Given the description of an element on the screen output the (x, y) to click on. 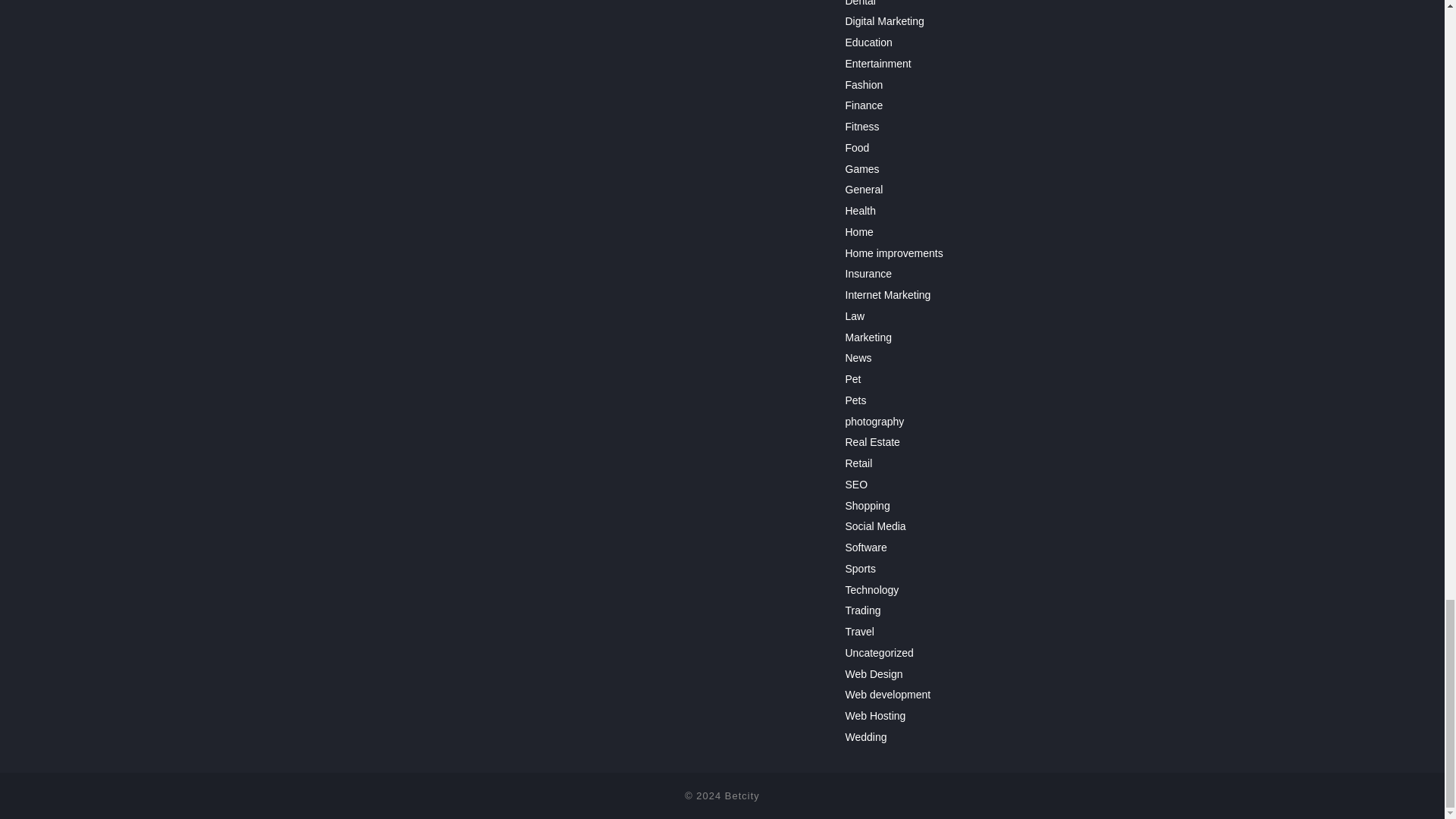
Digital Marketing (883, 21)
Dental (859, 3)
Education (867, 42)
